Given the description of an element on the screen output the (x, y) to click on. 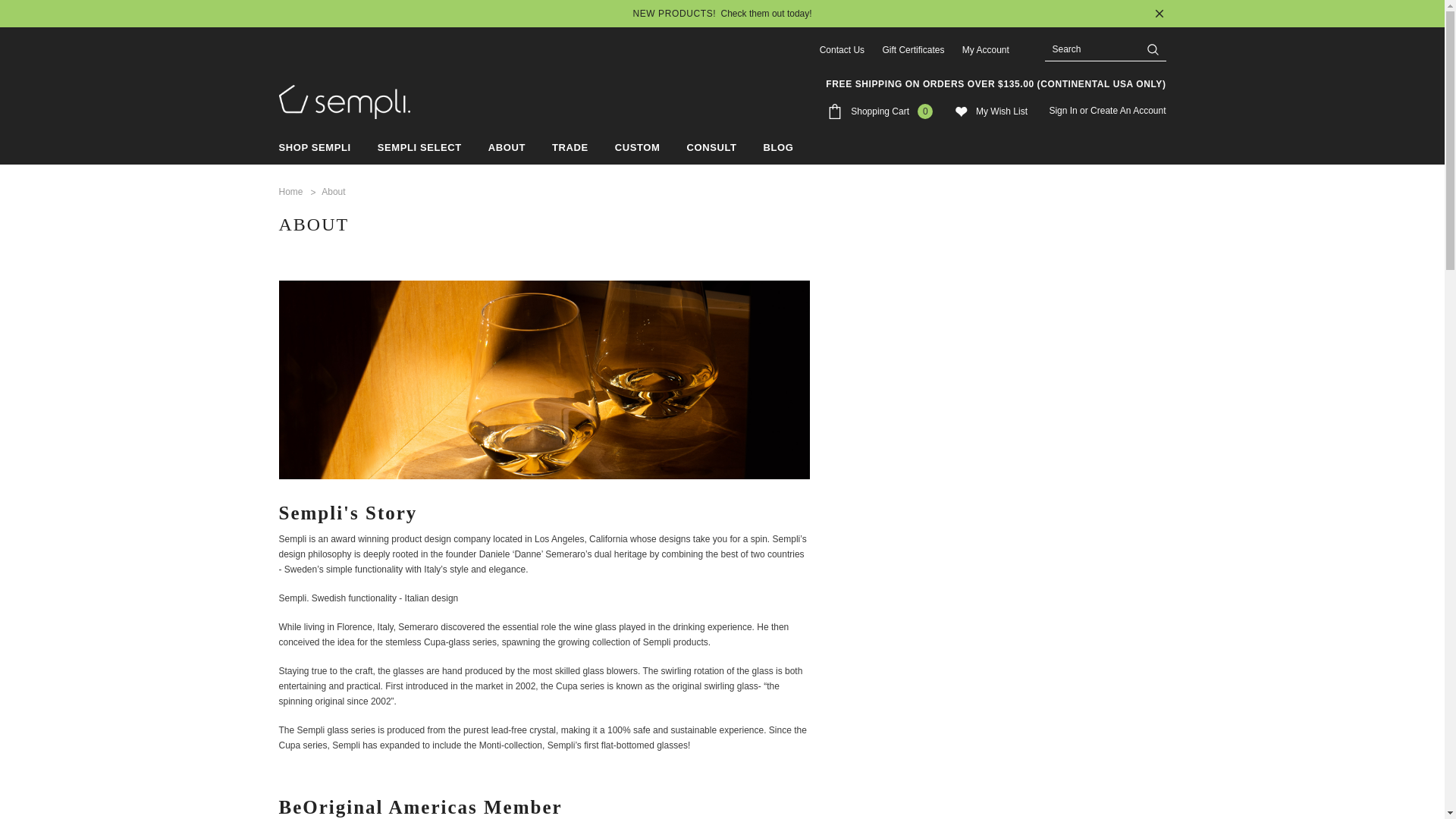
Sign In (1062, 110)
about-header-02.jpeg (544, 379)
Create An Account (1128, 110)
SHOP SEMPLI (314, 147)
Contact Us (841, 49)
Gift Certificates (912, 49)
Shopping Cart 0 (880, 110)
sempli (344, 101)
My Account (985, 49)
Check them out today! (766, 13)
